Given the description of an element on the screen output the (x, y) to click on. 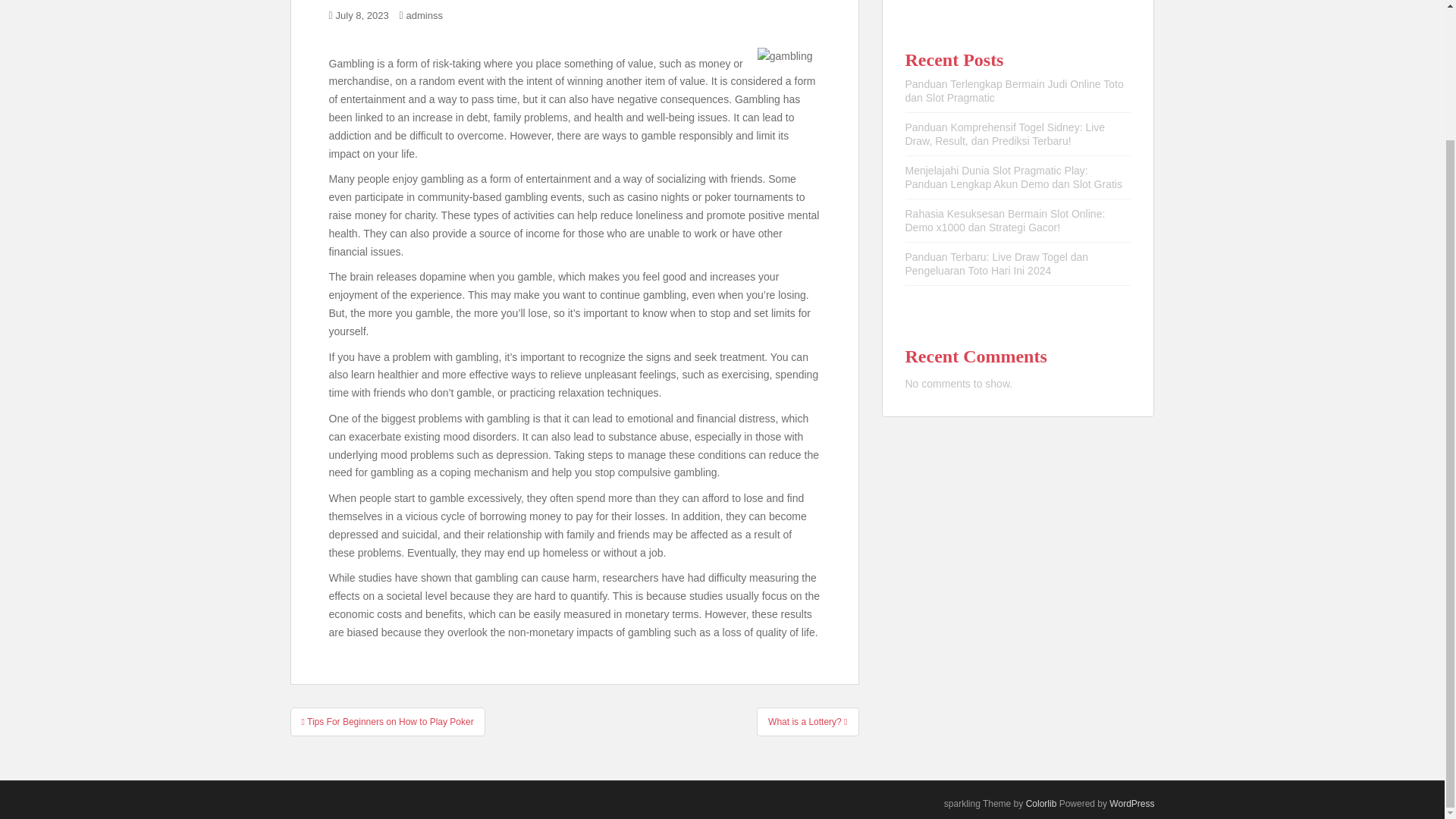
Colorlib (1041, 803)
adminss (424, 15)
July 8, 2023 (362, 15)
Tips For Beginners on How to Play Poker (386, 720)
What is a Lottery? (808, 720)
WordPress (1131, 803)
